Given the description of an element on the screen output the (x, y) to click on. 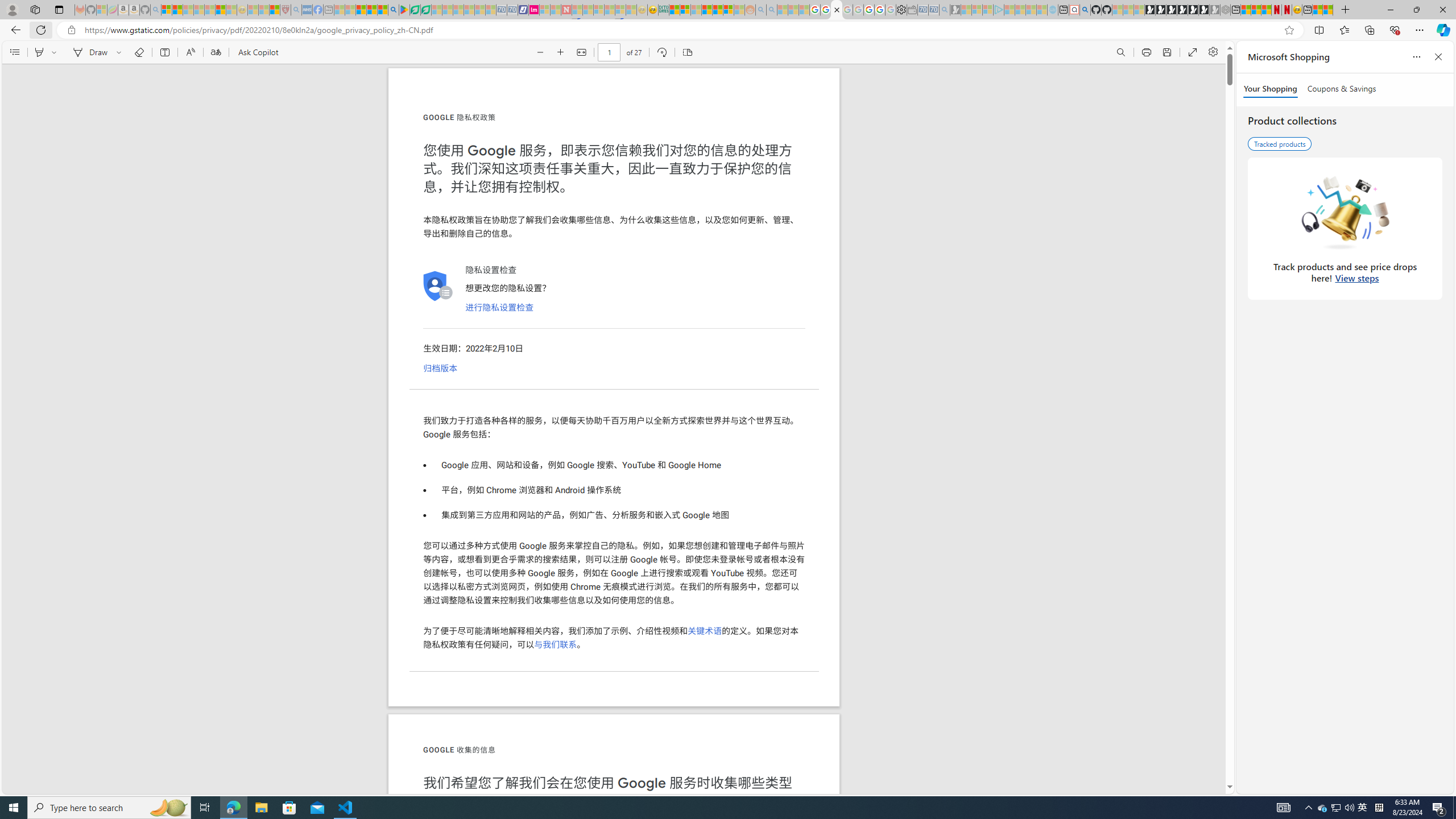
Fit to width (Ctrl+\) (581, 52)
MSNBC - MSN (673, 9)
Cheap Car Rentals - Save70.com - Sleeping (933, 9)
Microsoft-Report a Concern to Bing - Sleeping (101, 9)
Latest Politics News & Archive | Newsweek.com - Sleeping (566, 9)
DITOGAMES AG Imprint (663, 9)
